Given the description of an element on the screen output the (x, y) to click on. 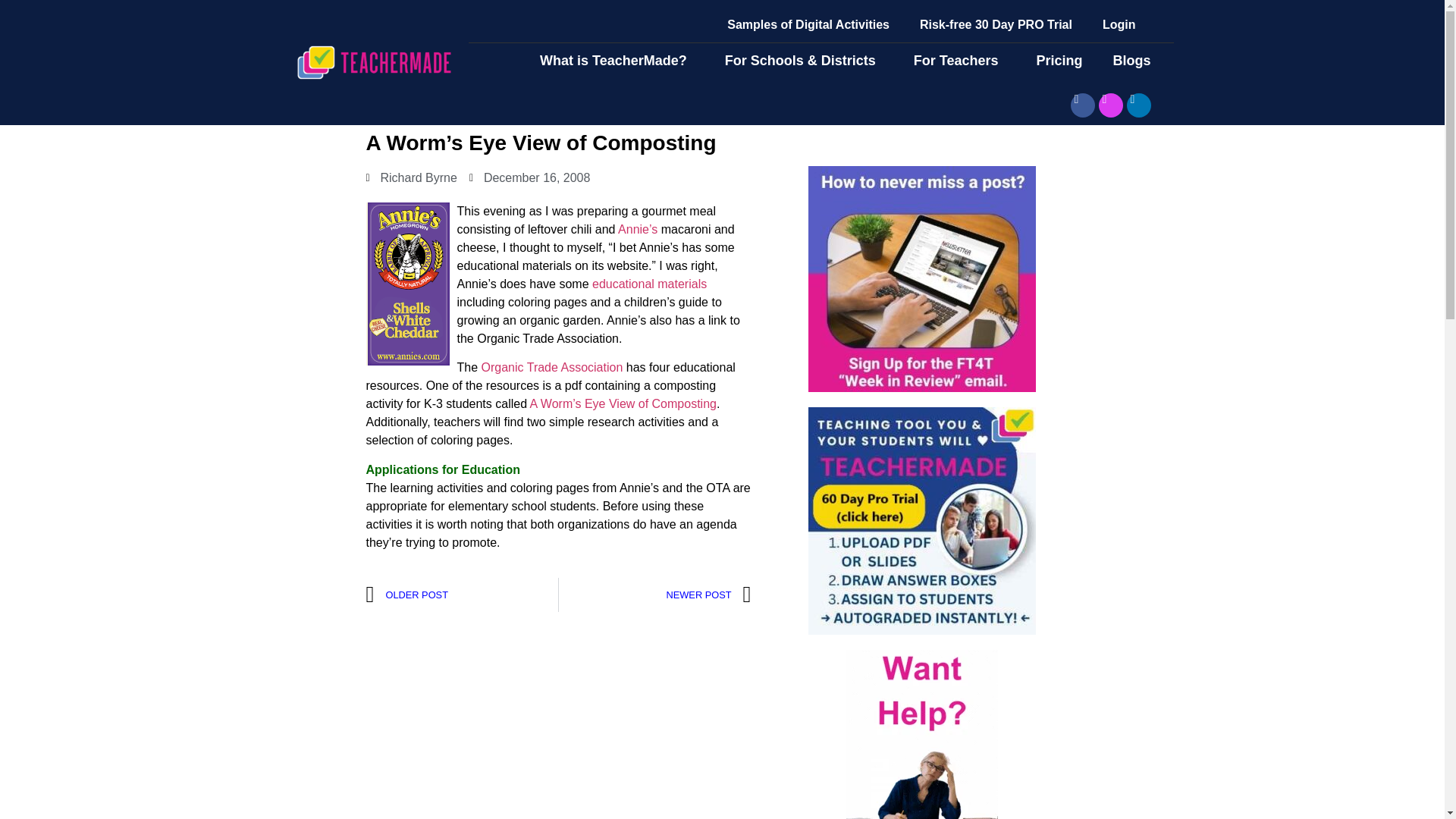
Risk-free 30 Day PRO Trial (995, 24)
Samples of Digital Activities (807, 24)
Login (1119, 24)
Blogs (1135, 60)
For Teachers (960, 60)
What is TeacherMade? (617, 60)
Pricing (1058, 60)
